Given the description of an element on the screen output the (x, y) to click on. 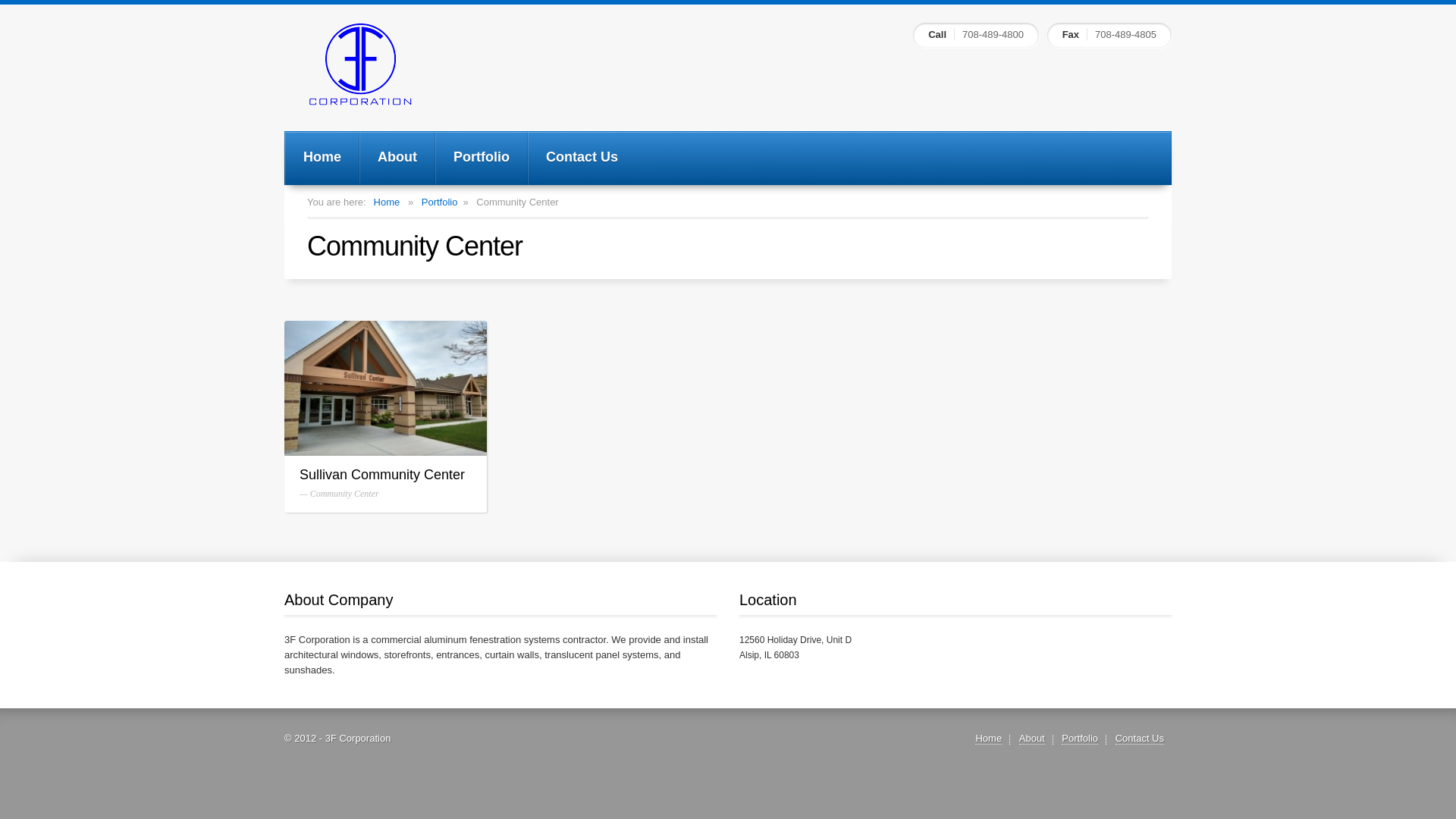
Contact Us Element type: text (581, 158)
About Element type: text (397, 158)
Home Element type: text (988, 738)
Sullivan Community Center Element type: hover (385, 387)
About Element type: text (1031, 738)
Contact Us Element type: text (1139, 738)
Portfolio Element type: text (1079, 738)
Portfolio Element type: text (439, 201)
Portfolio Element type: text (481, 158)
Home Element type: text (322, 158)
Home Element type: text (386, 201)
